Given the description of an element on the screen output the (x, y) to click on. 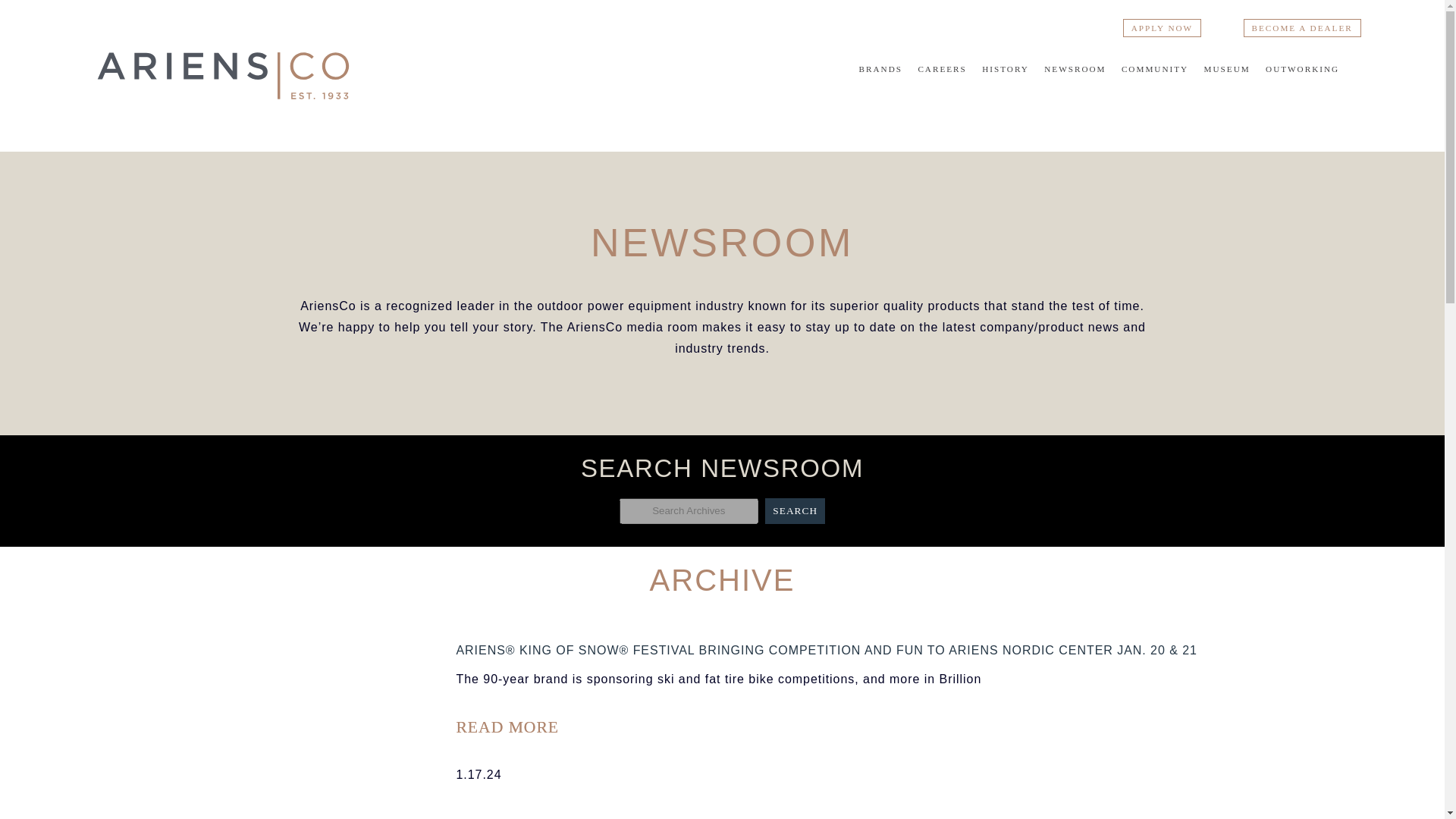
SEARCH (795, 510)
READ MORE (507, 727)
CAREERS (941, 68)
NEWSROOM (1074, 68)
BRANDS (880, 68)
COMMUNITY (1154, 68)
MUSEUM (1227, 68)
OUTWORKING (1302, 68)
APPLY NOW (1161, 27)
HISTORY (1005, 68)
